Given the description of an element on the screen output the (x, y) to click on. 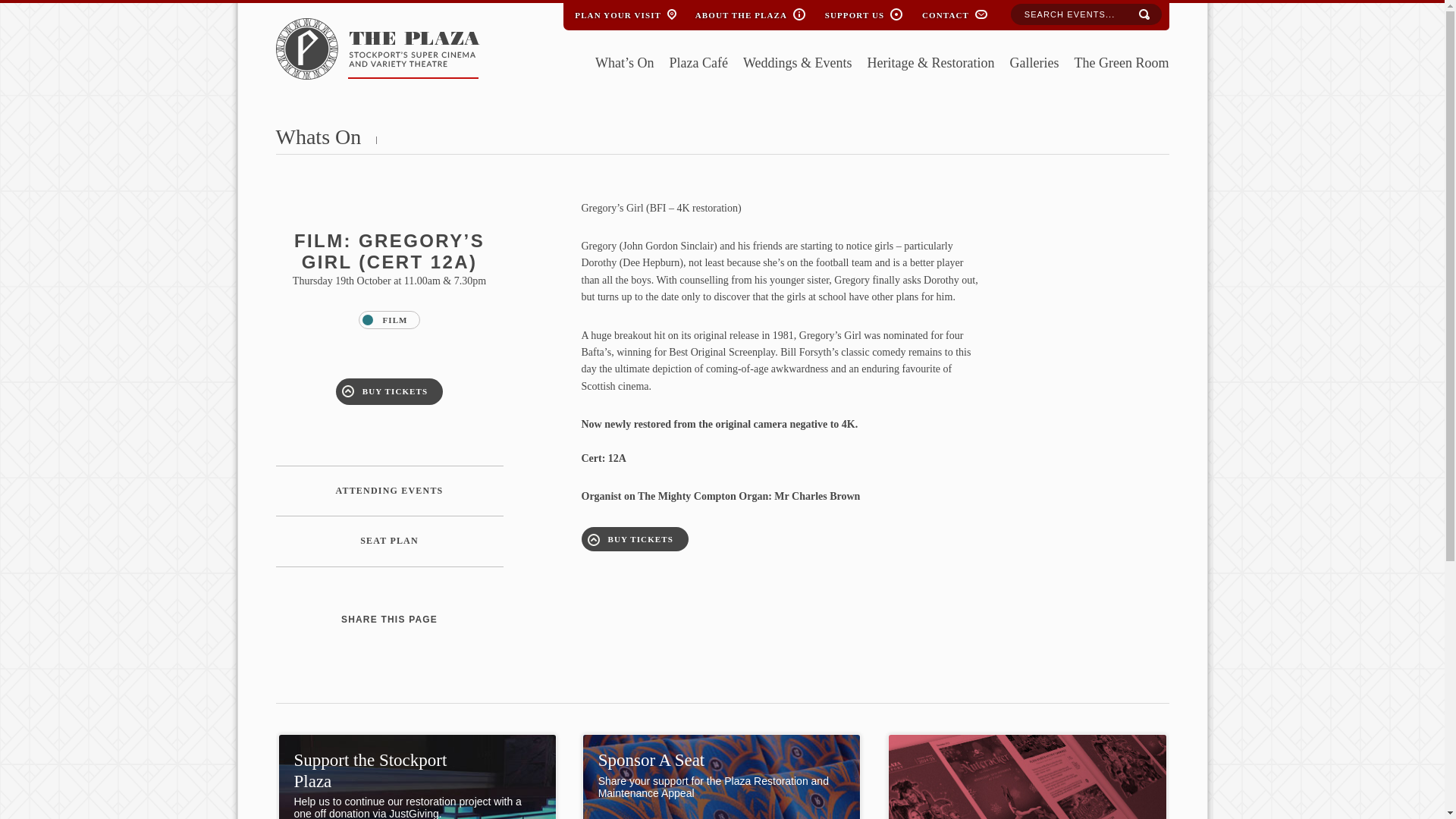
SUPPORT US (854, 12)
BUY TICKETS (389, 391)
FILM (388, 320)
ATTENDING EVENTS (389, 491)
ABOUT THE PLAZA (740, 12)
The Green Room (1121, 64)
Galleries (1034, 64)
submit (1143, 15)
Whats On (318, 136)
SEAT PLAN (389, 541)
CONTACT (945, 12)
submit (1143, 15)
PLAN YOUR VISIT (617, 12)
